Given the description of an element on the screen output the (x, y) to click on. 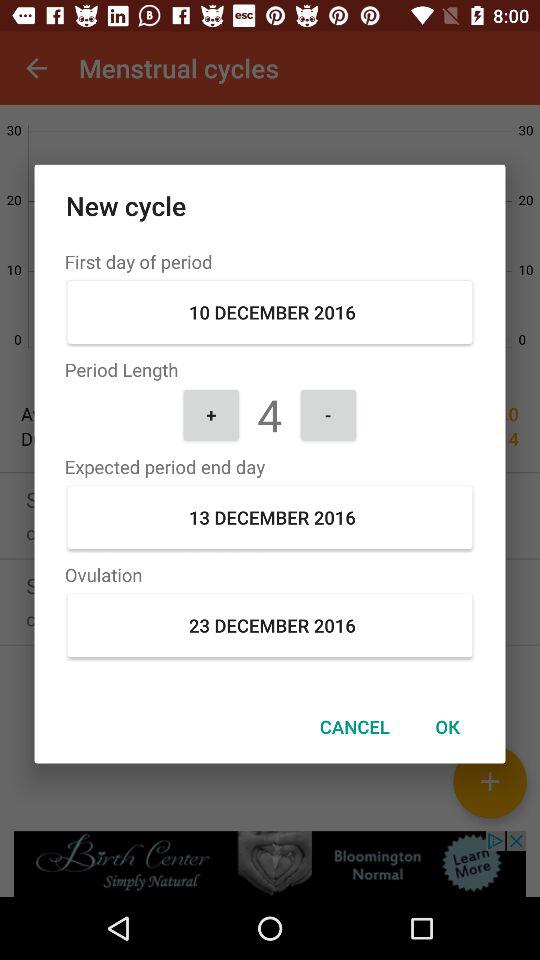
tap the icon to the left of 4 icon (211, 414)
